Given the description of an element on the screen output the (x, y) to click on. 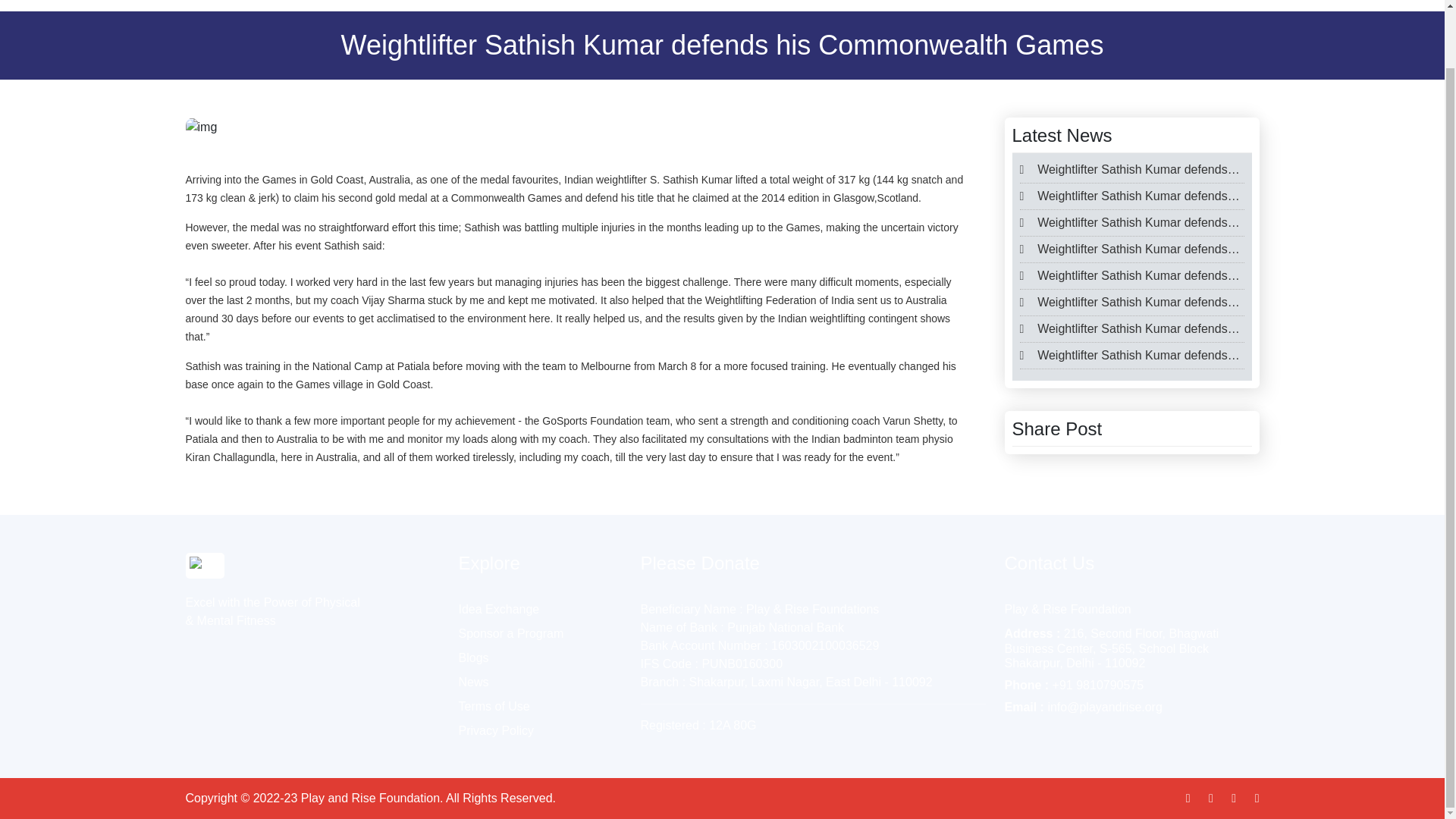
Programs (1040, 1)
Idea Exchange (498, 608)
Members (1112, 1)
About (978, 1)
Sponsor a Program (510, 633)
